Given the description of an element on the screen output the (x, y) to click on. 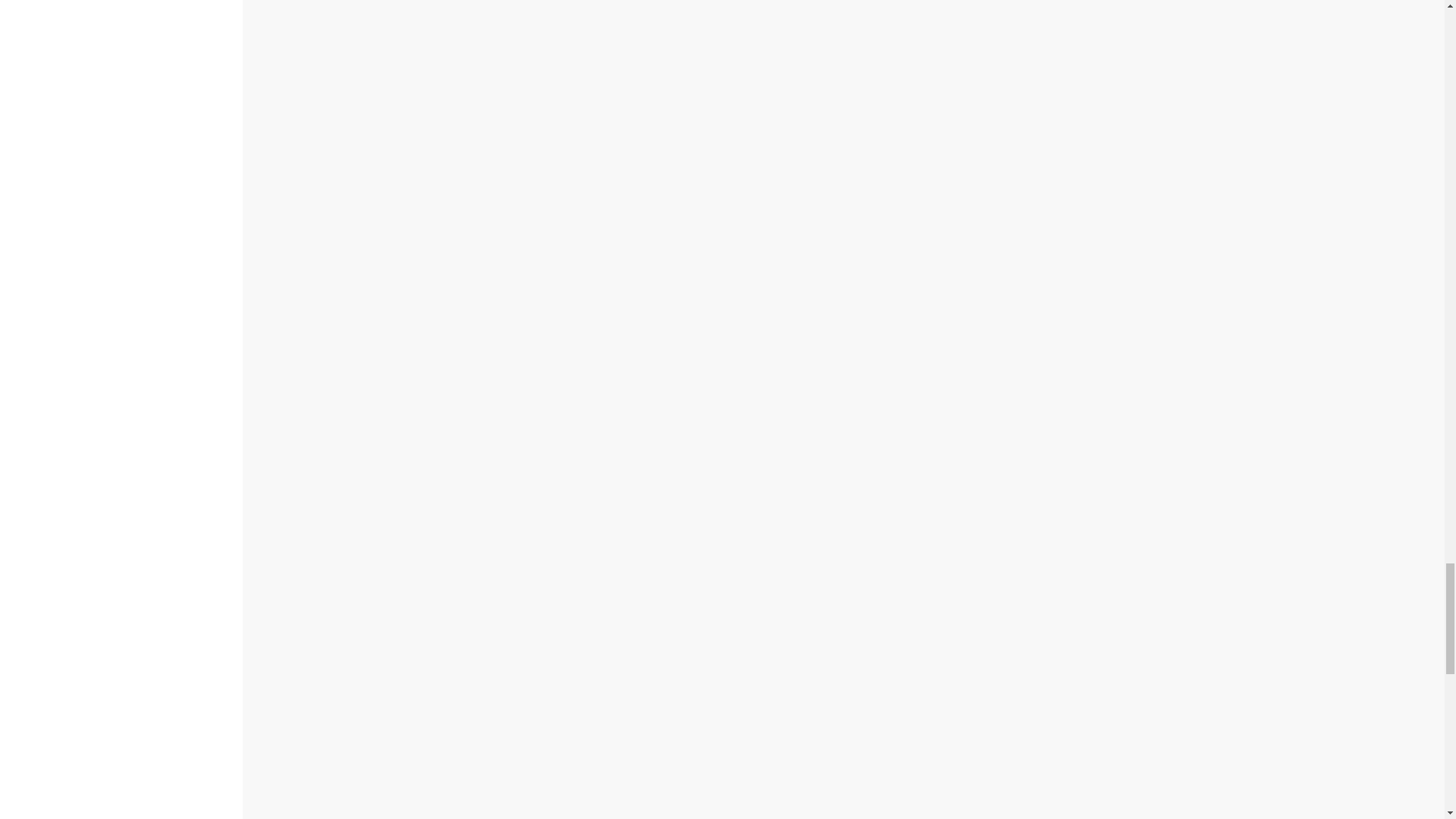
keluaran sdy (707, 499)
